Given the description of an element on the screen output the (x, y) to click on. 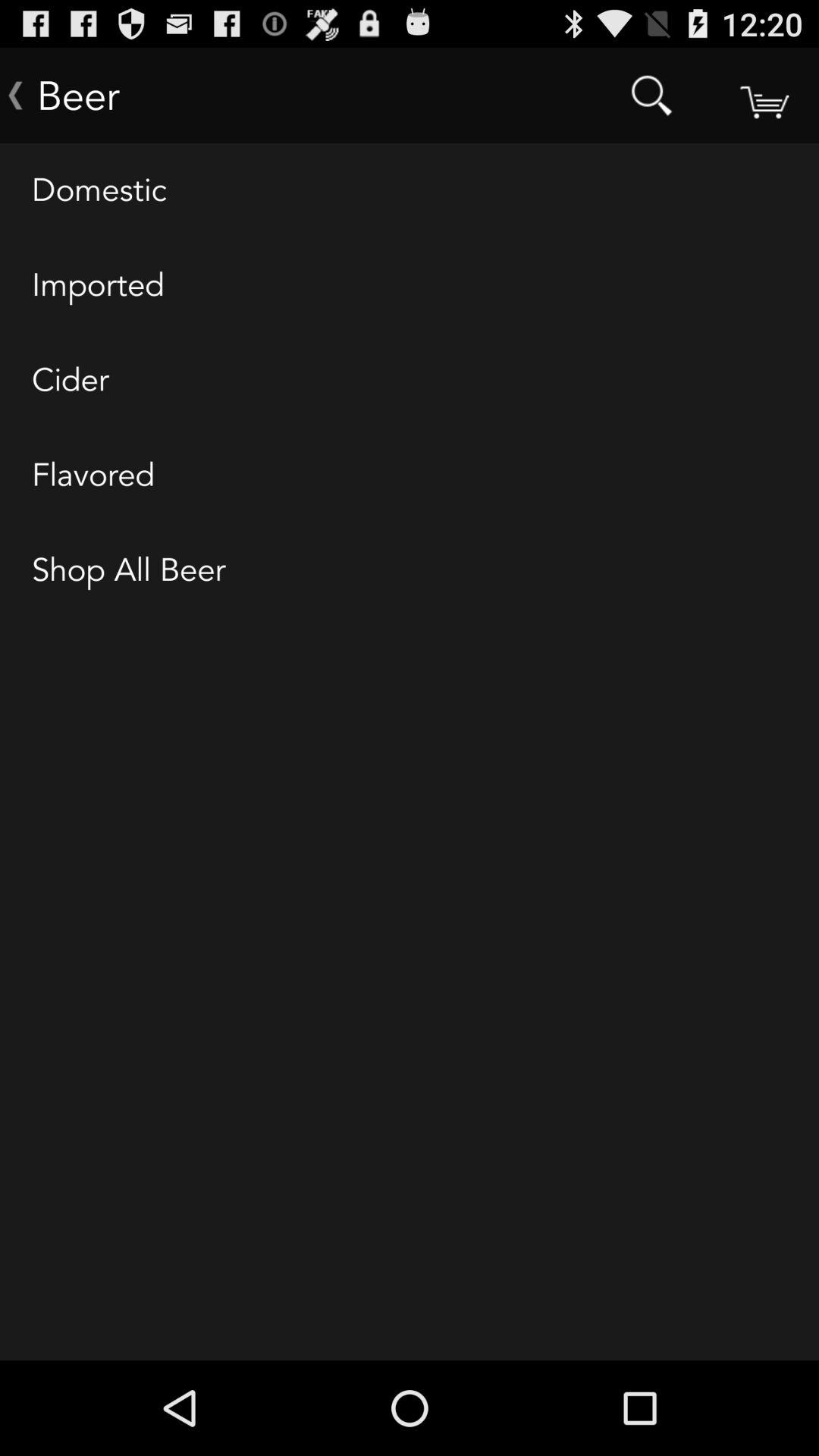
view shopping cart (763, 95)
